Given the description of an element on the screen output the (x, y) to click on. 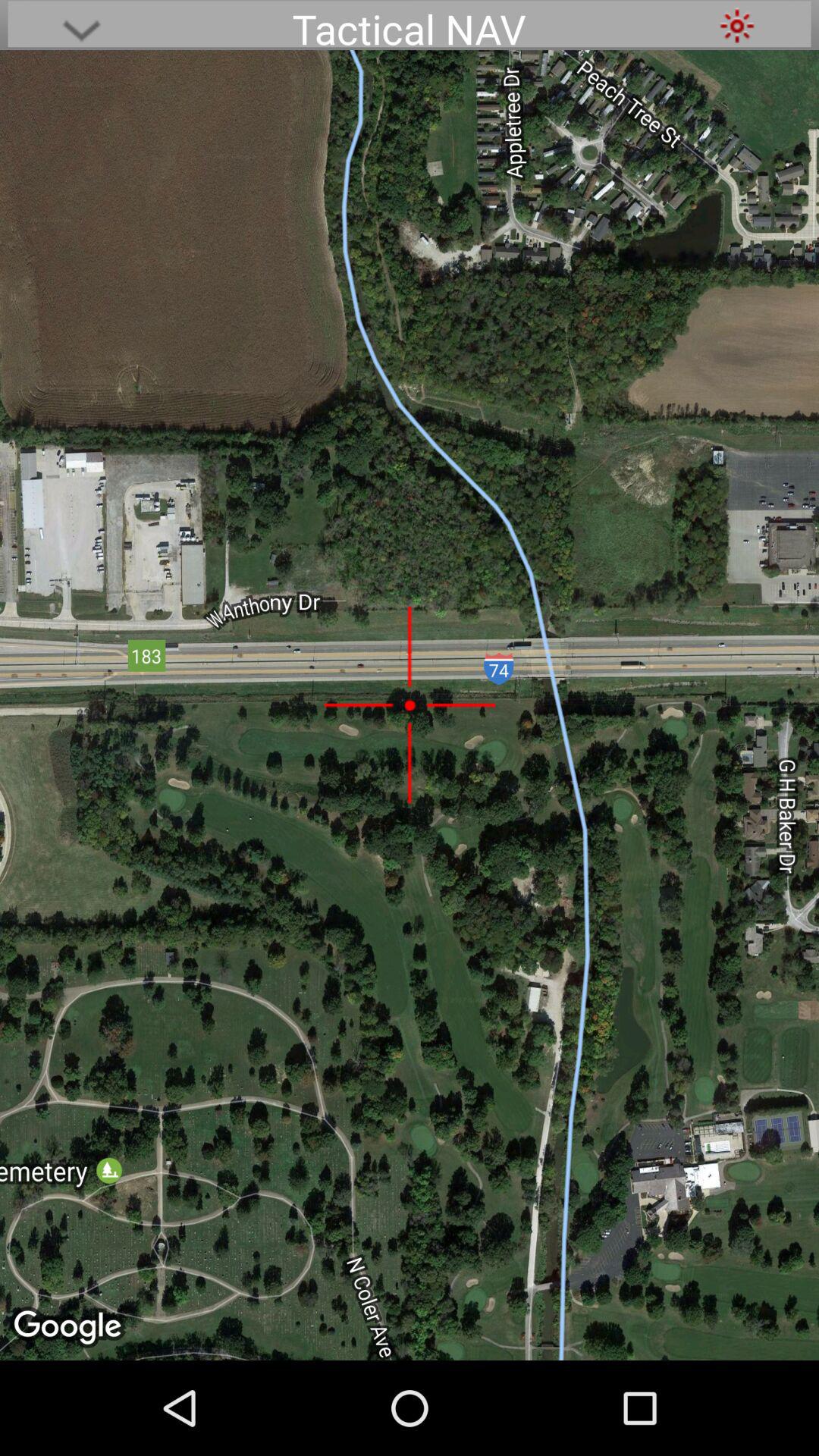
select the app next to tactical nav item (81, 25)
